Given the description of an element on the screen output the (x, y) to click on. 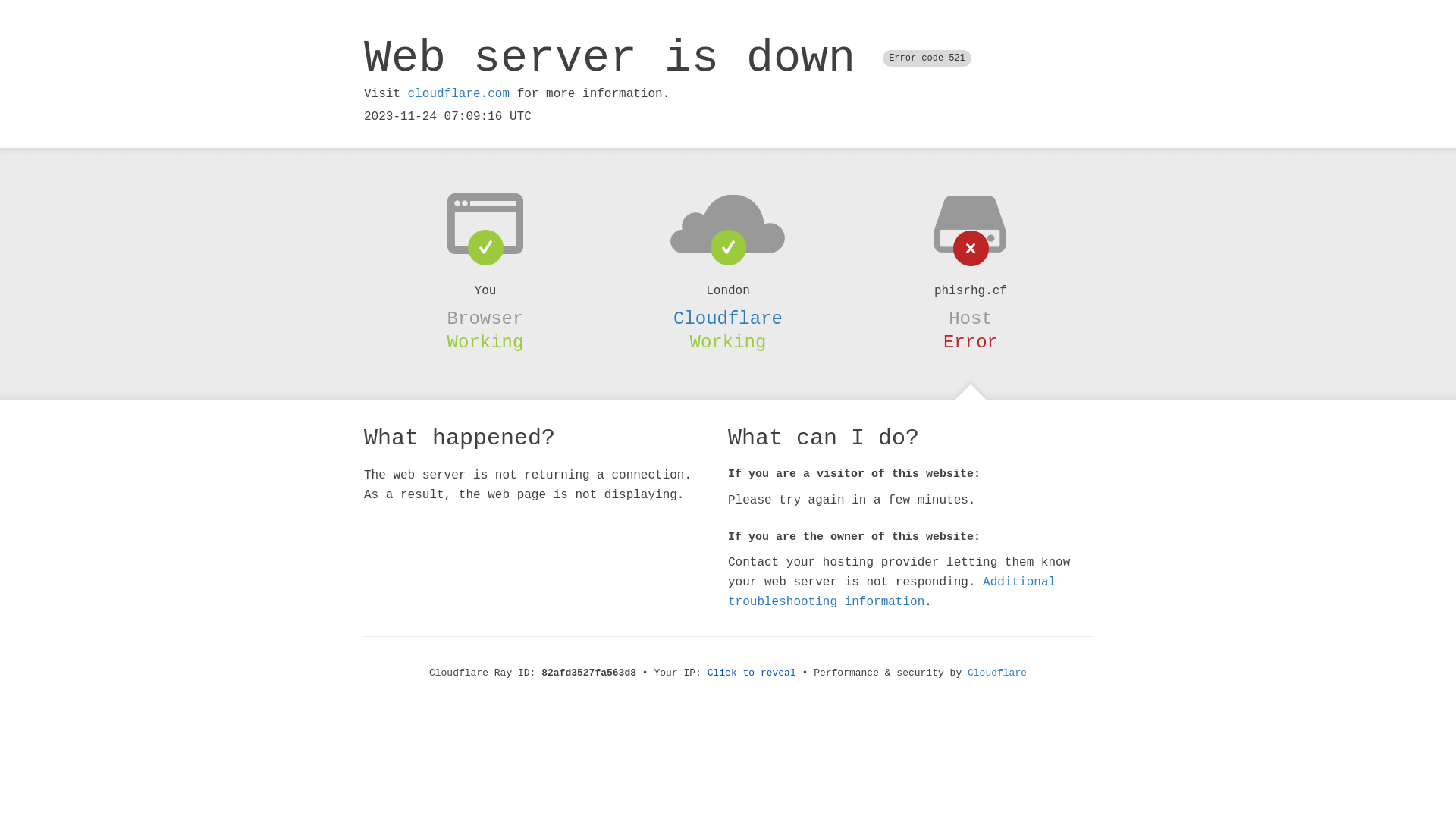
cloudflare.com Element type: text (458, 93)
Cloudflare Element type: text (996, 672)
Additional troubleshooting information Element type: text (891, 591)
Click to reveal Element type: text (751, 672)
Cloudflare Element type: text (727, 318)
